Given the description of an element on the screen output the (x, y) to click on. 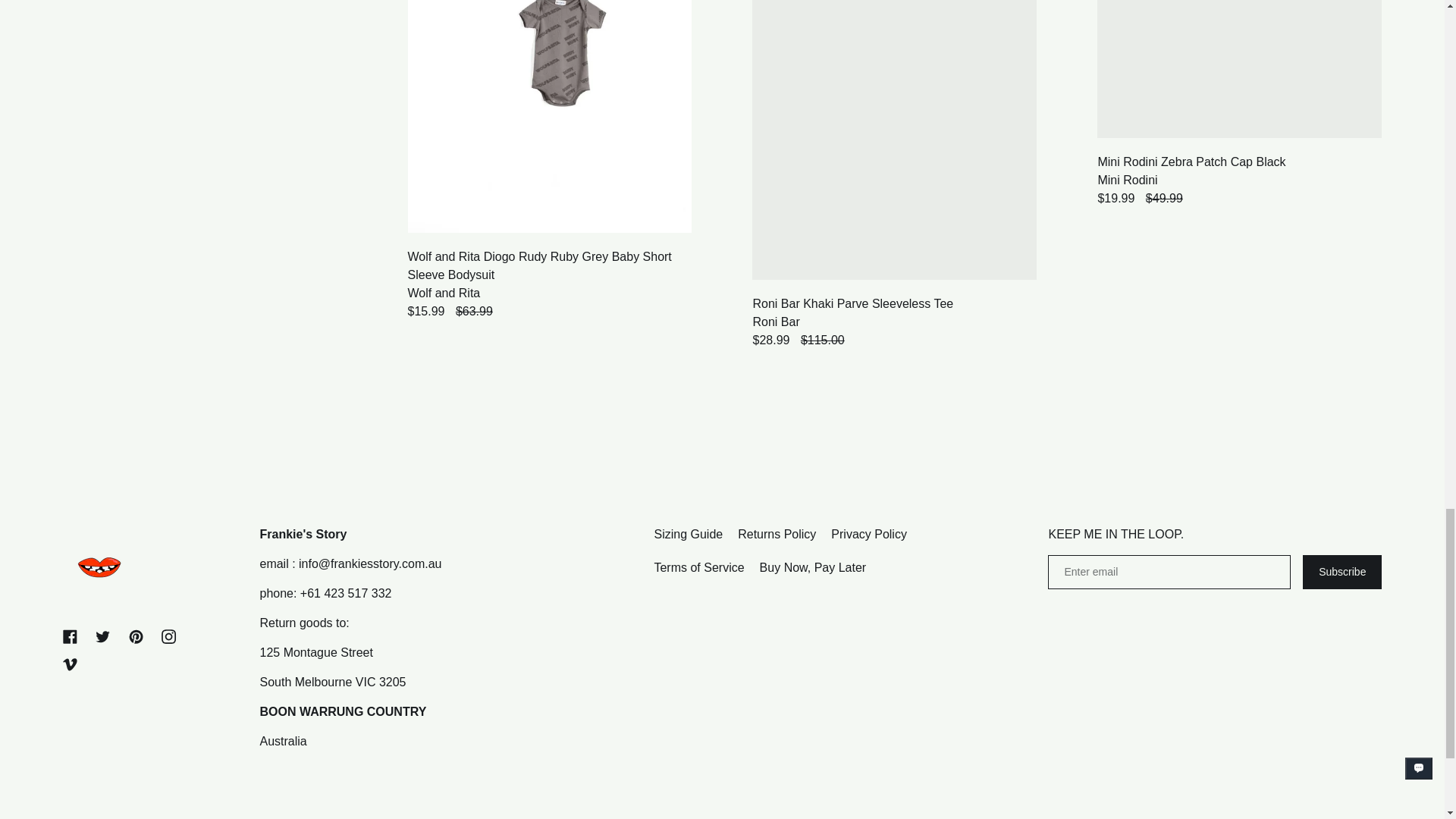
Frankie's Story on Instagram (168, 636)
Frankie's Story on Pinterest (135, 636)
Frankie's Story on Vimeo, (69, 663)
Frankie's Story on Twitter (102, 636)
Frankie's Story on Facebook (69, 636)
